Given the description of an element on the screen output the (x, y) to click on. 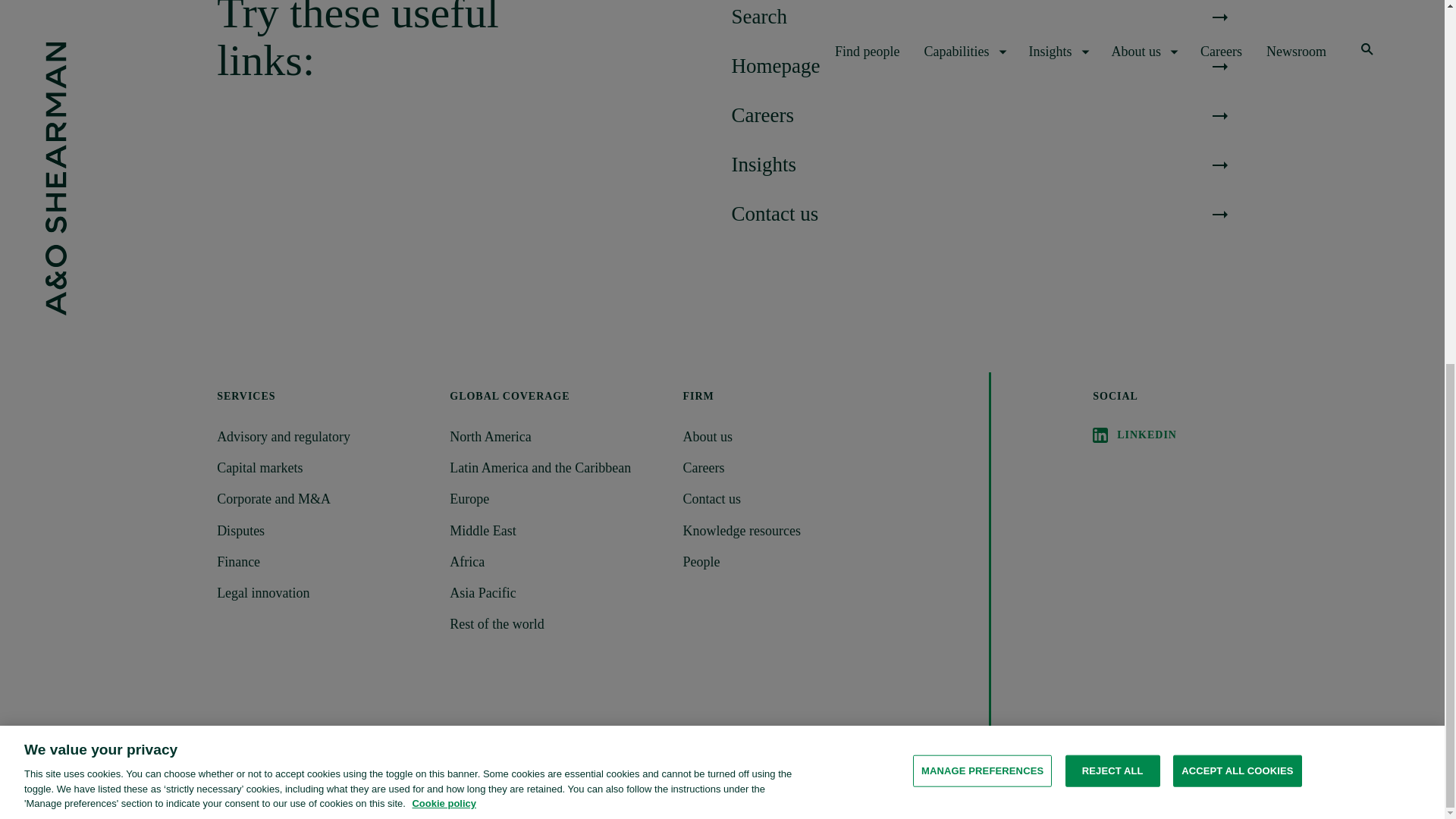
Modern slavery and human trafficking (644, 774)
Latin America and the Caribbean (556, 467)
Search (978, 16)
Europe (556, 498)
Contact us (789, 498)
Accessibility (245, 774)
Insights (978, 164)
Africa (556, 561)
Careers (789, 467)
Legal notices (505, 774)
